Given the description of an element on the screen output the (x, y) to click on. 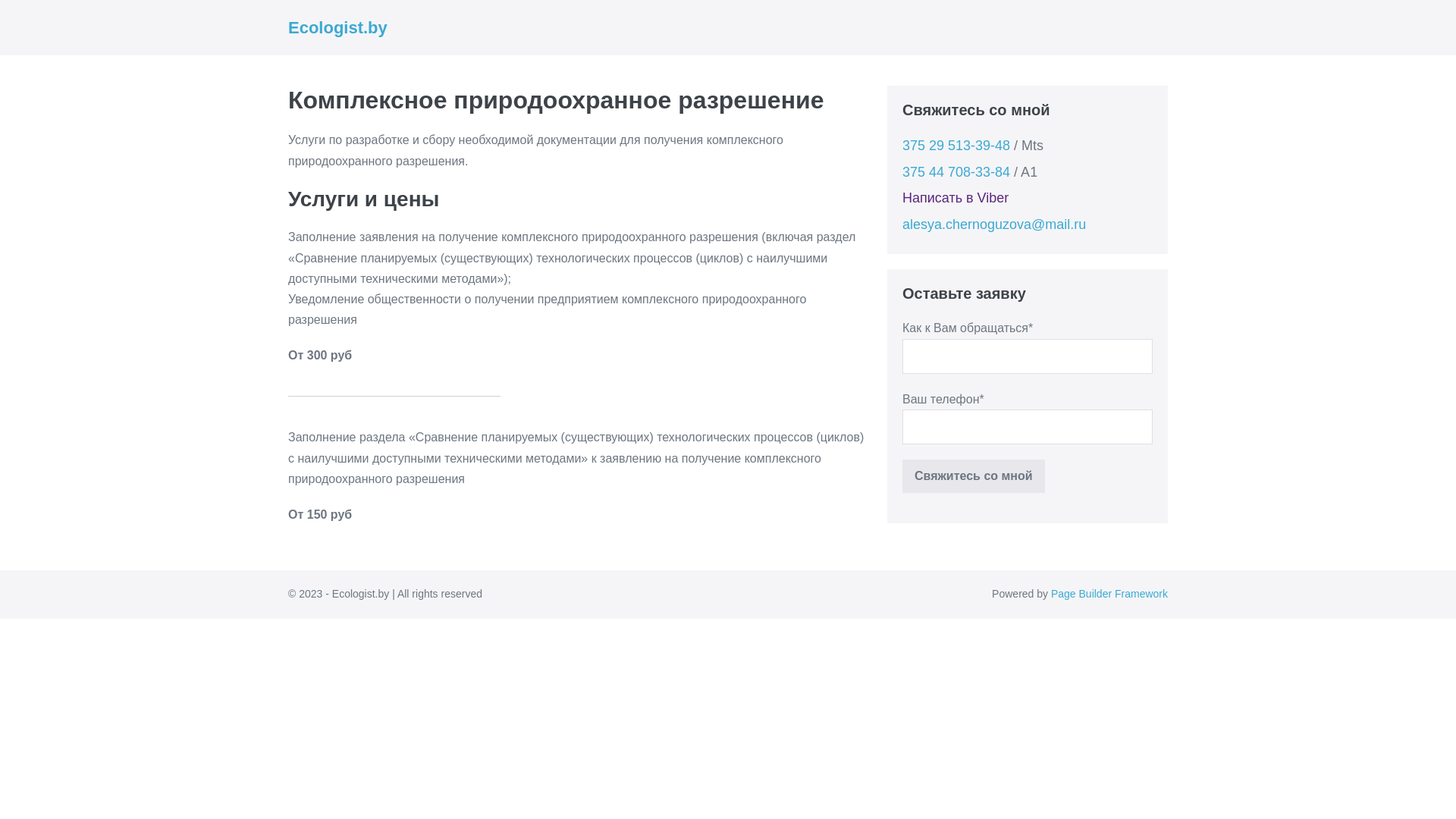
375 29 513-39-48 Element type: text (956, 145)
Ecologist.by Element type: text (337, 27)
375 44 708-33-84 Element type: text (956, 171)
alesya.chernoguzova@mail.ru Element type: text (993, 224)
Page Builder Framework Element type: text (1109, 593)
